Given the description of an element on the screen output the (x, y) to click on. 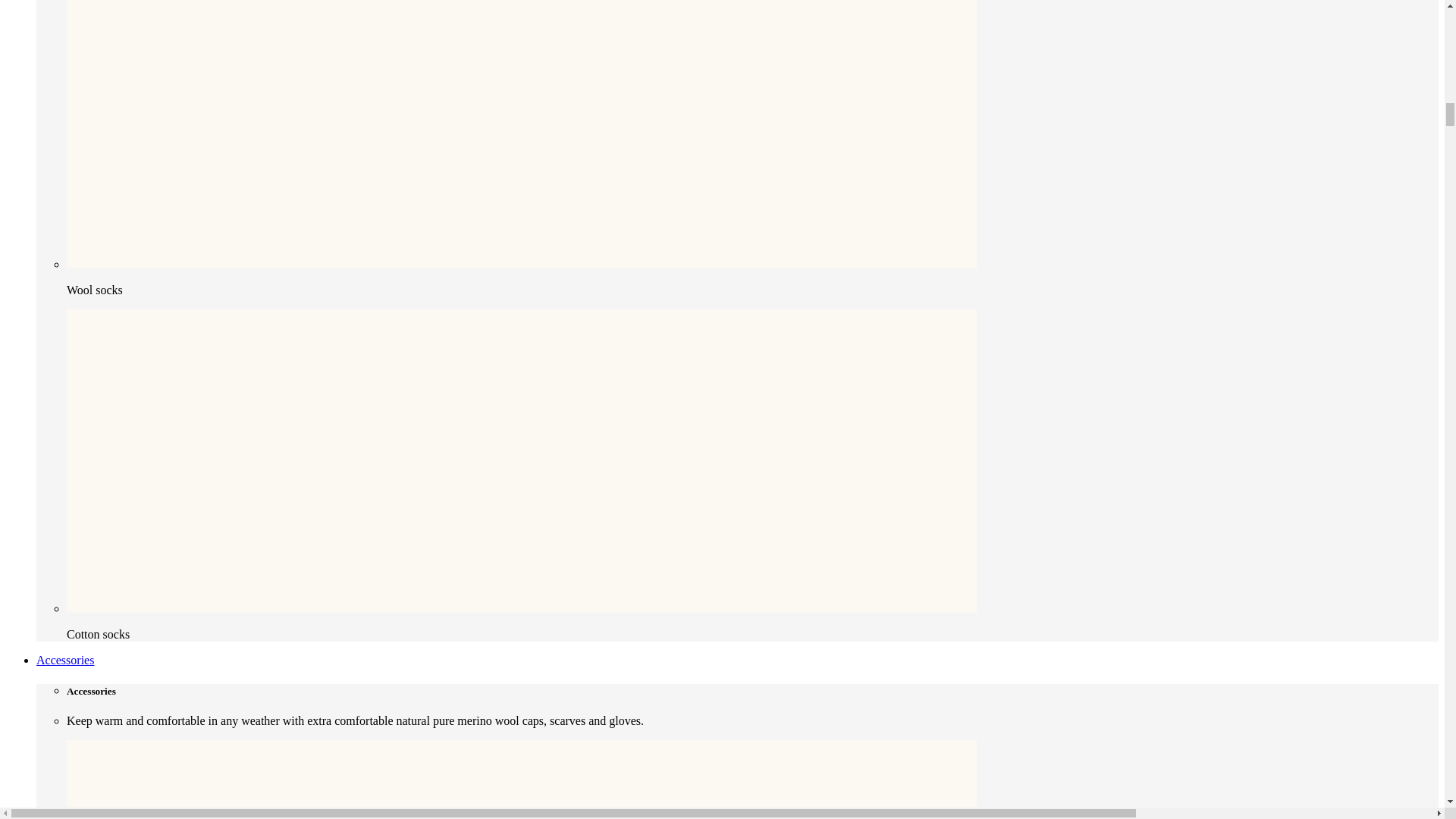
Accessories (65, 659)
